Given the description of an element on the screen output the (x, y) to click on. 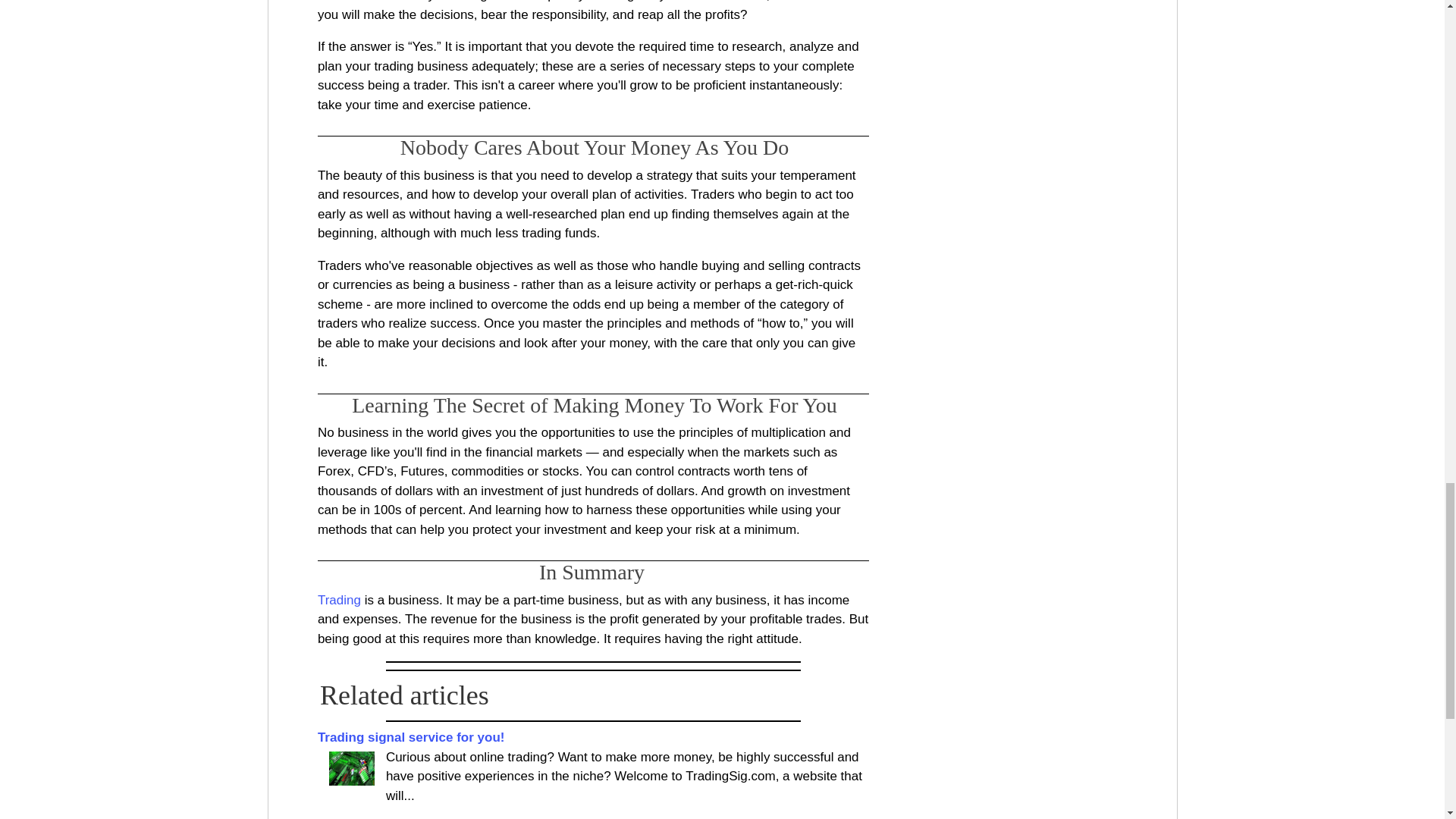
Trading (351, 768)
